Given the description of an element on the screen output the (x, y) to click on. 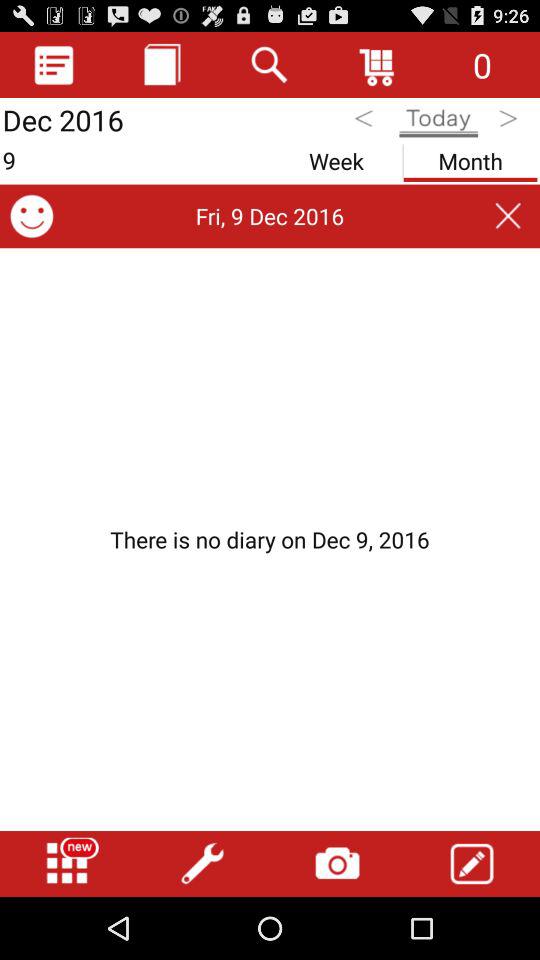
turn off icon to the left of the 0 icon (377, 64)
